Given the description of an element on the screen output the (x, y) to click on. 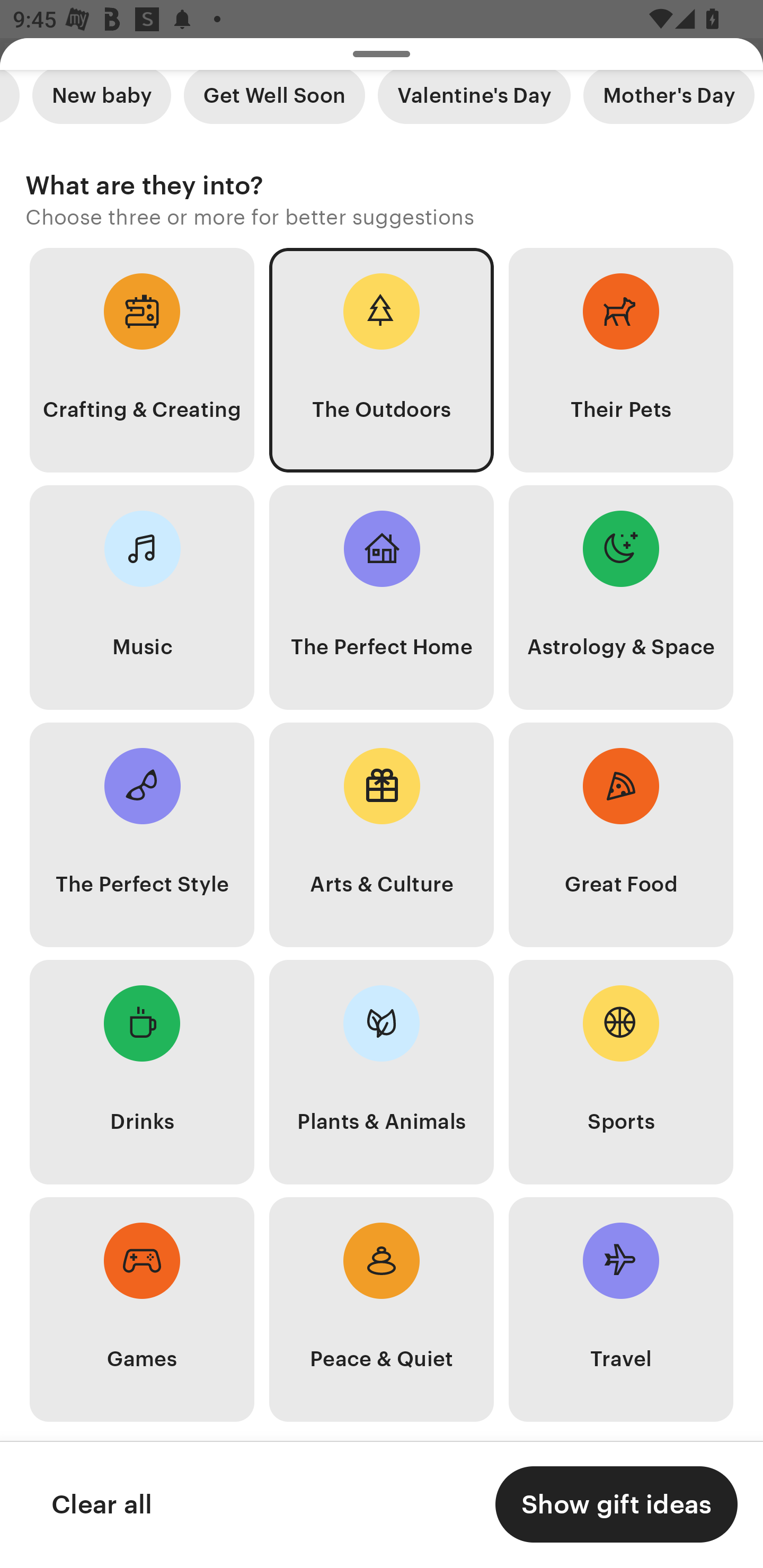
New baby (101, 101)
Get Well Soon (273, 101)
Valentine's Day (473, 101)
Mother's Day (668, 101)
Crafting & Creating (141, 359)
The Outdoors (381, 359)
Their Pets (620, 359)
Music (141, 597)
The Perfect Home (381, 597)
Astrology & Space (620, 597)
The Perfect Style (141, 834)
Arts & Culture (381, 834)
Great Food (620, 834)
Drinks (141, 1071)
Plants & Animals (381, 1071)
Sports (620, 1071)
Games (141, 1309)
Peace & Quiet (381, 1309)
Travel (620, 1309)
Clear all (101, 1504)
Show gift ideas (616, 1504)
